Given the description of an element on the screen output the (x, y) to click on. 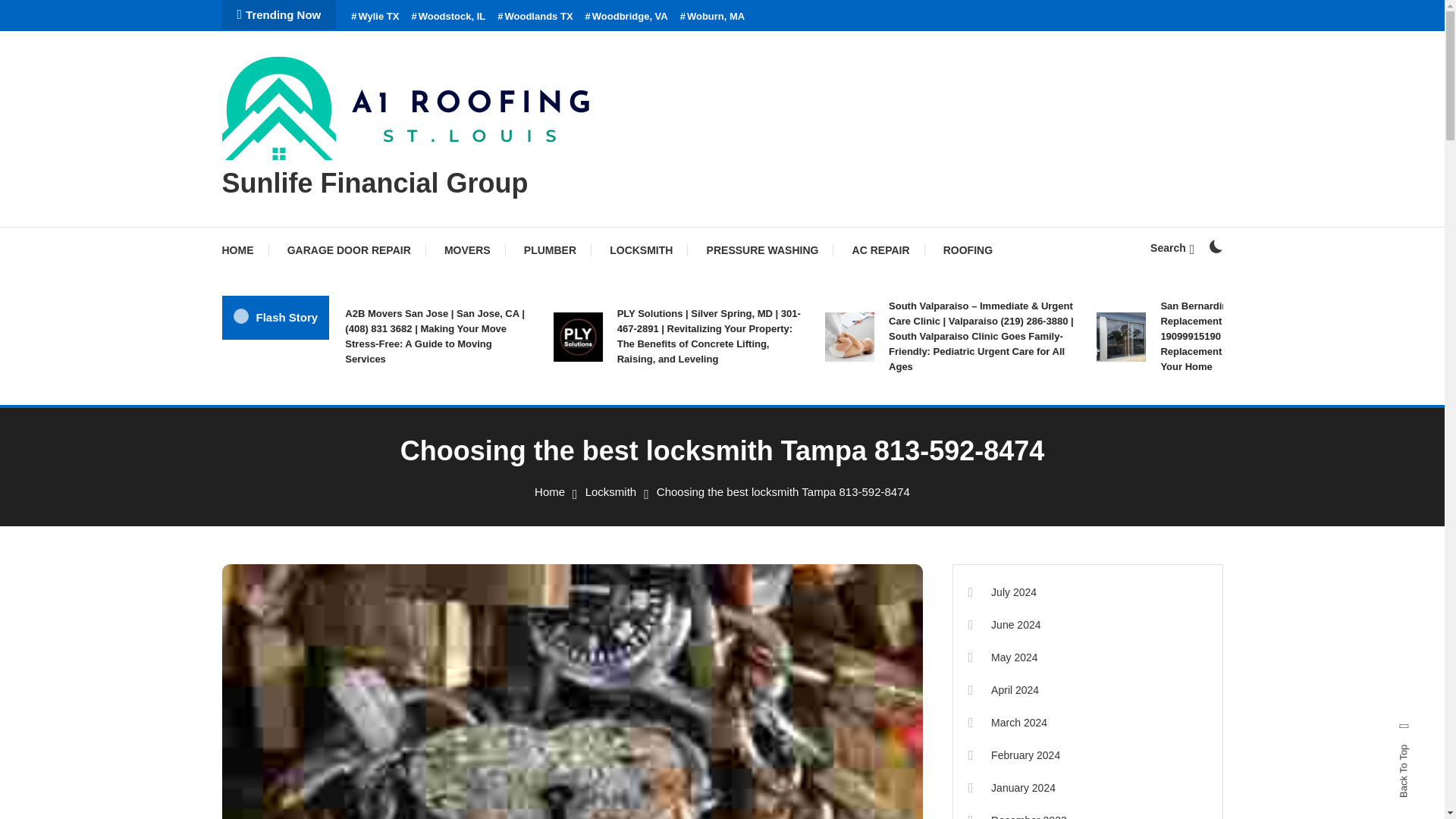
Woodbridge, VA (626, 16)
on (1215, 246)
Home (549, 491)
Woodstock, IL (447, 16)
PRESSURE WASHING (762, 249)
Woodlands TX (534, 16)
HOME (244, 249)
Wylie TX (374, 16)
LOCKSMITH (640, 249)
MOVERS (467, 249)
GARAGE DOOR REPAIR (349, 249)
PLUMBER (549, 249)
Locksmith (611, 491)
Search (1171, 247)
AC REPAIR (880, 249)
